Given the description of an element on the screen output the (x, y) to click on. 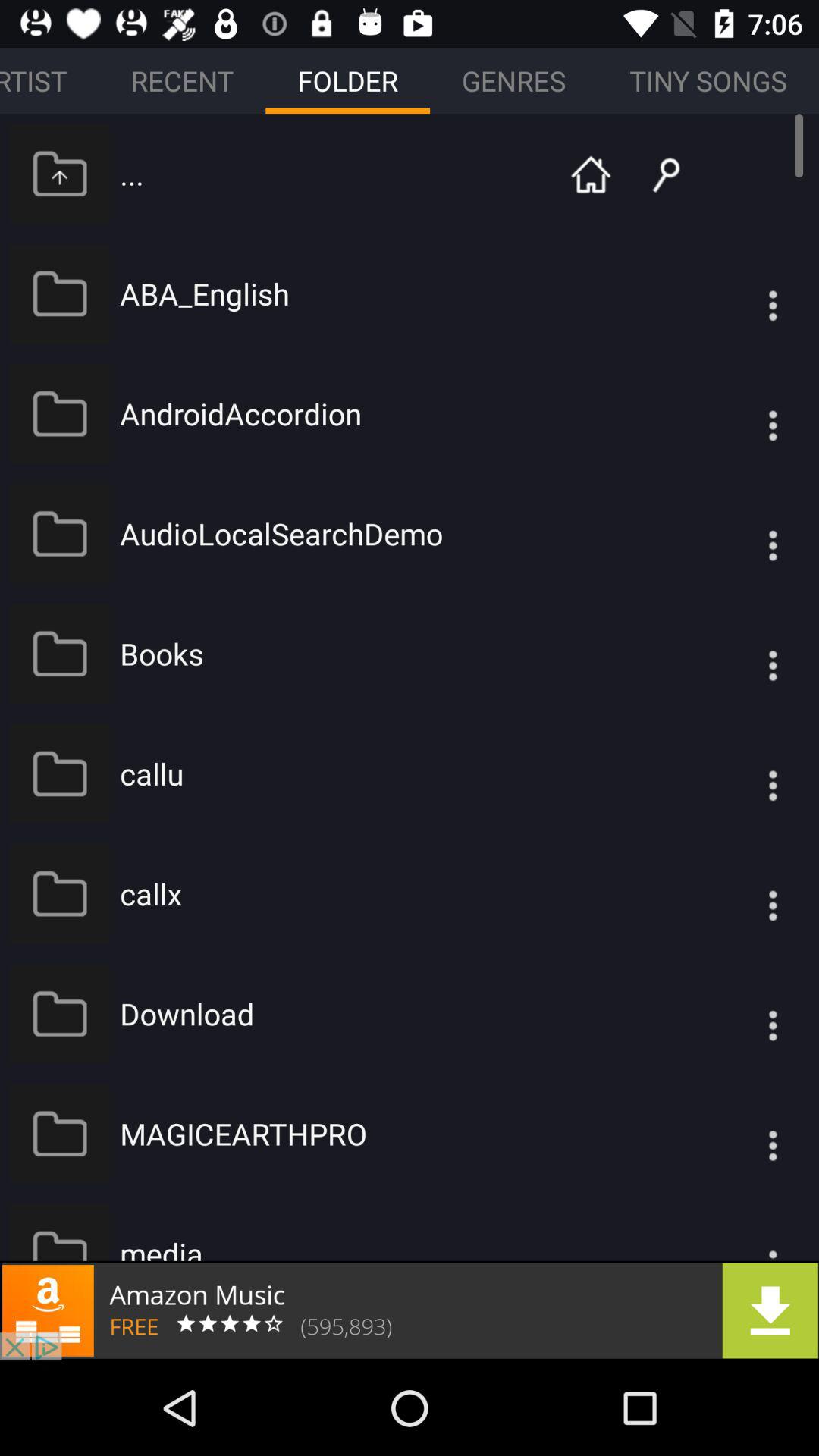
open menu (742, 533)
